Given the description of an element on the screen output the (x, y) to click on. 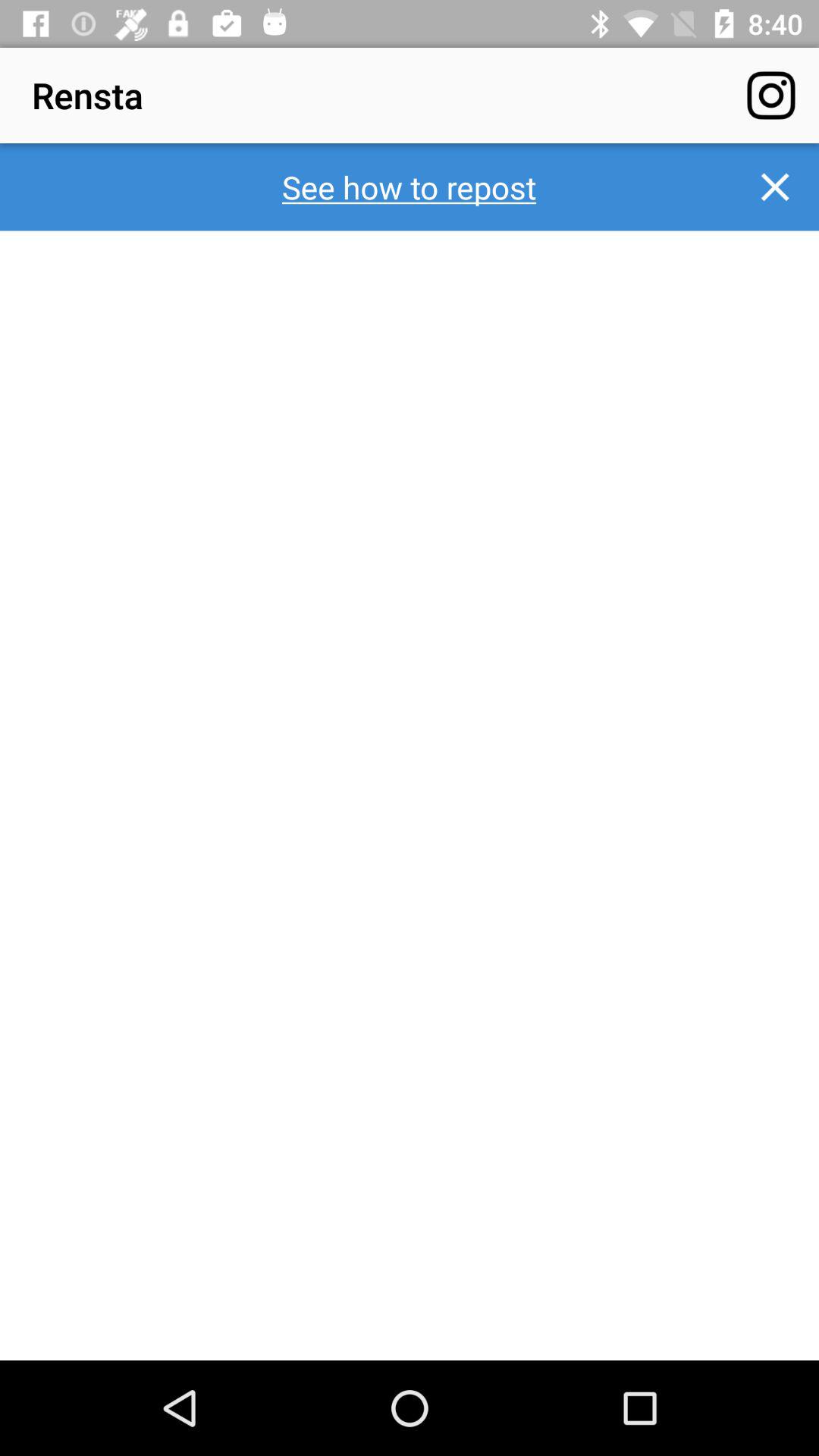
launch the icon to the right of rensta (771, 95)
